Given the description of an element on the screen output the (x, y) to click on. 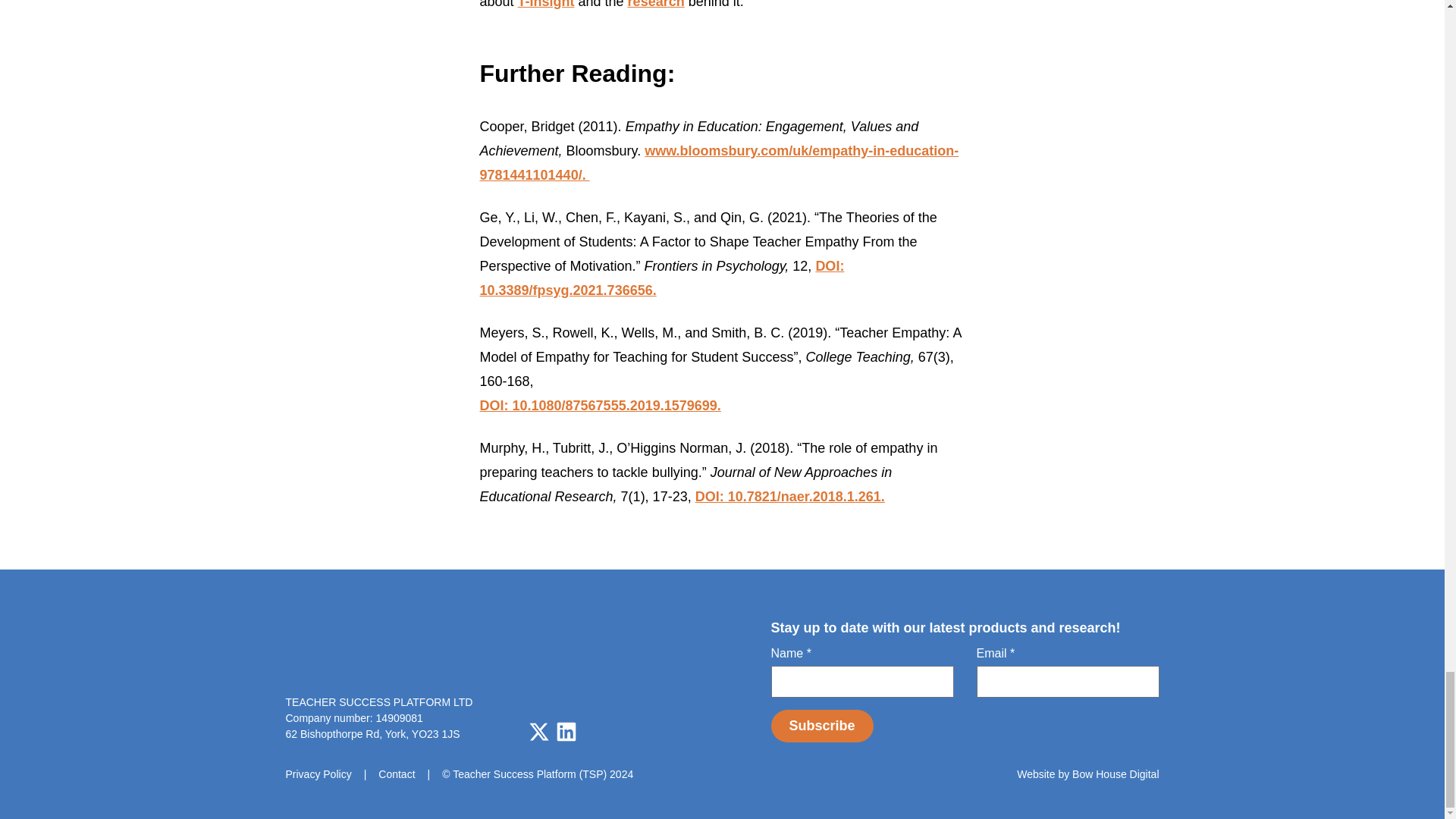
T-Insight (546, 4)
LinkedIn (565, 731)
research (655, 4)
